Given the description of an element on the screen output the (x, y) to click on. 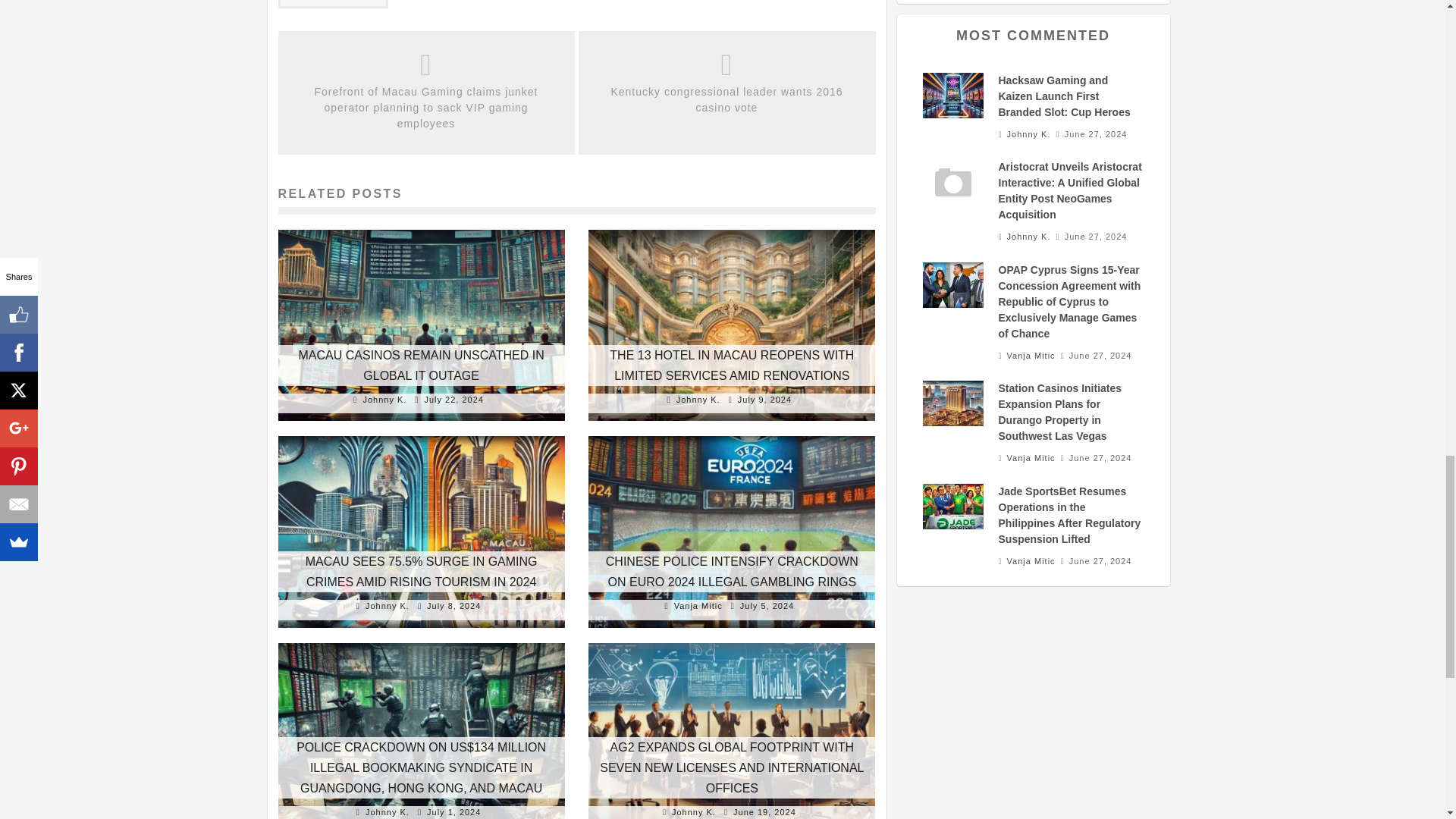
Submit (333, 4)
